Given the description of an element on the screen output the (x, y) to click on. 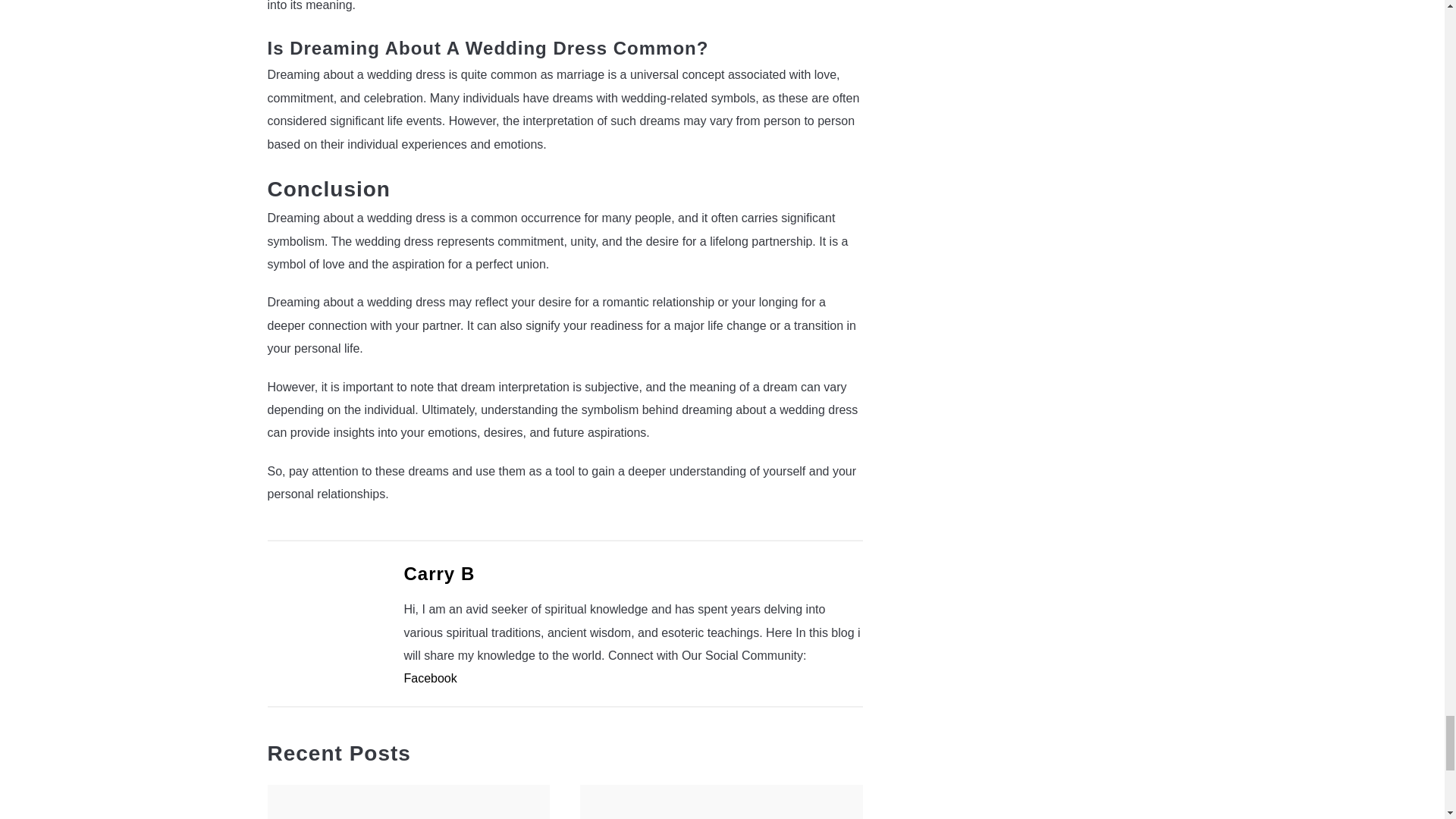
link to 150 Biblical Meanings of Dreaming About Elephants (408, 801)
Facebook (430, 677)
Carry B (438, 573)
